Given the description of an element on the screen output the (x, y) to click on. 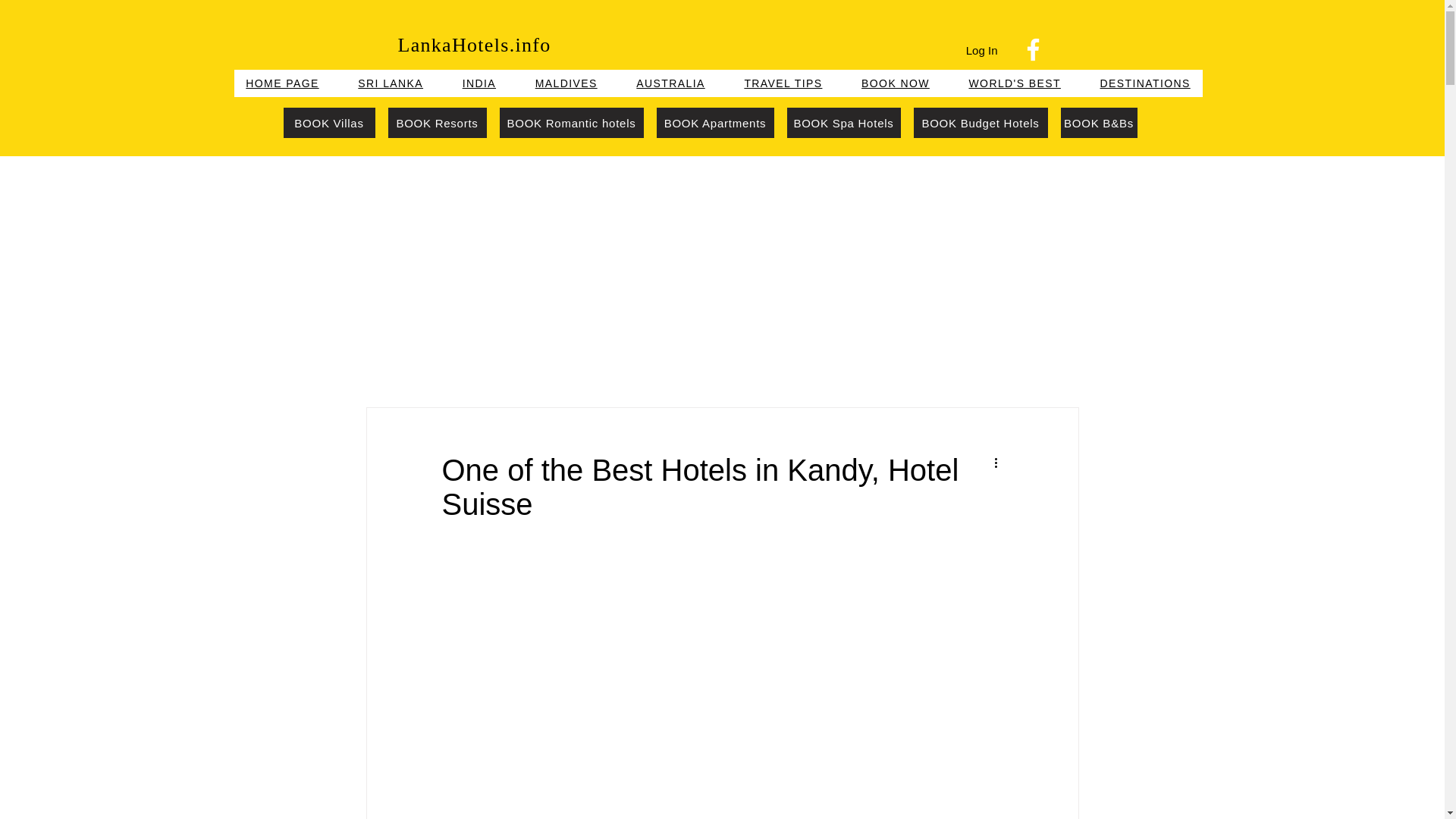
WORLD'S BEST (1014, 83)
SRI LANKA (389, 83)
INDIA (478, 83)
BOOK Spa Hotels (844, 122)
TRAVEL TIPS (783, 83)
Log In (982, 50)
BOOK Budget Hotels (979, 122)
MALDIVES (566, 83)
BOOK Romantic hotels (571, 122)
BOOK Villas (329, 122)
